Given the description of an element on the screen output the (x, y) to click on. 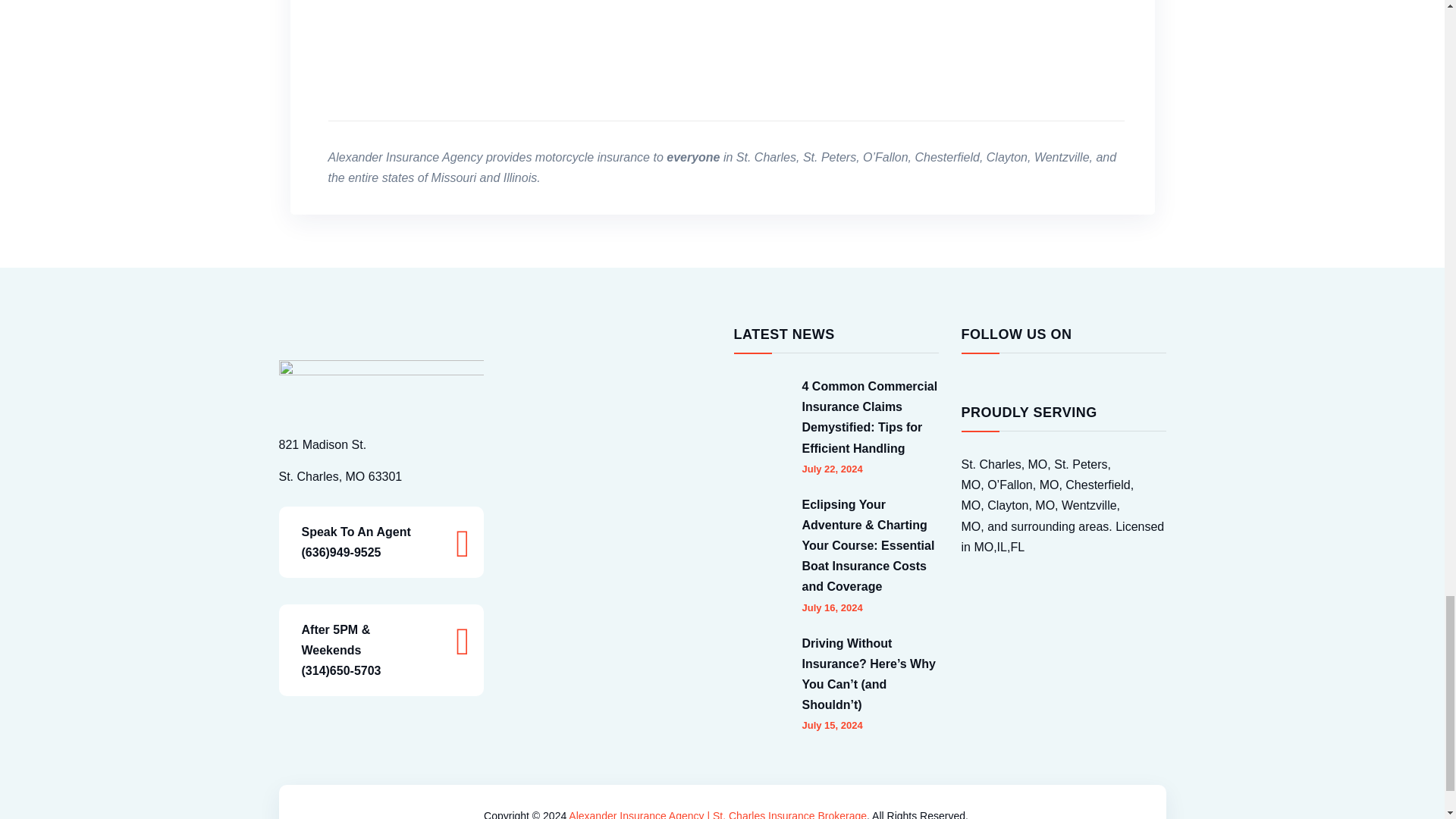
July 22, 2024 (832, 468)
